Given the description of an element on the screen output the (x, y) to click on. 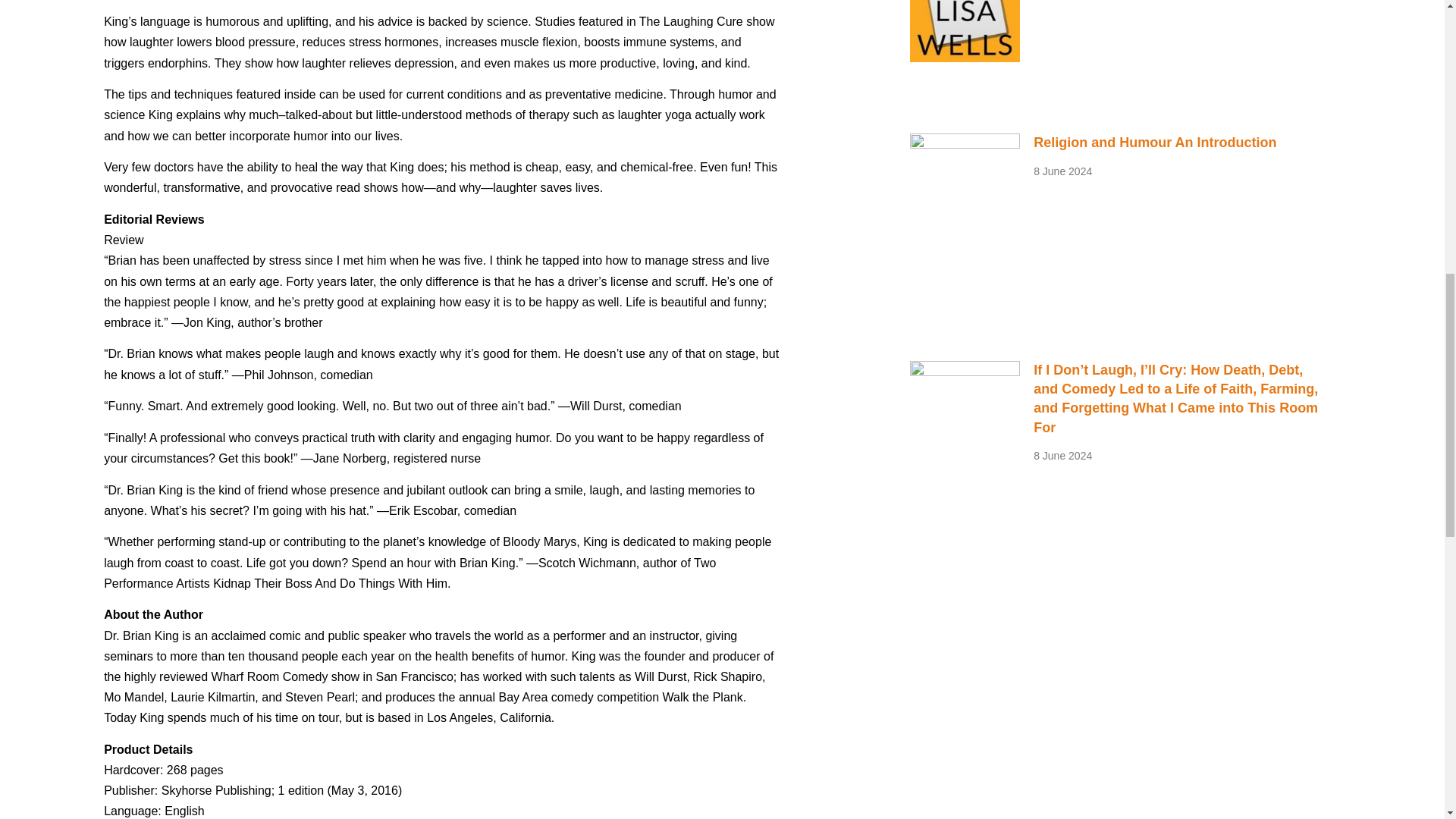
Religion and Humour An Introduction (1154, 142)
